Given the description of an element on the screen output the (x, y) to click on. 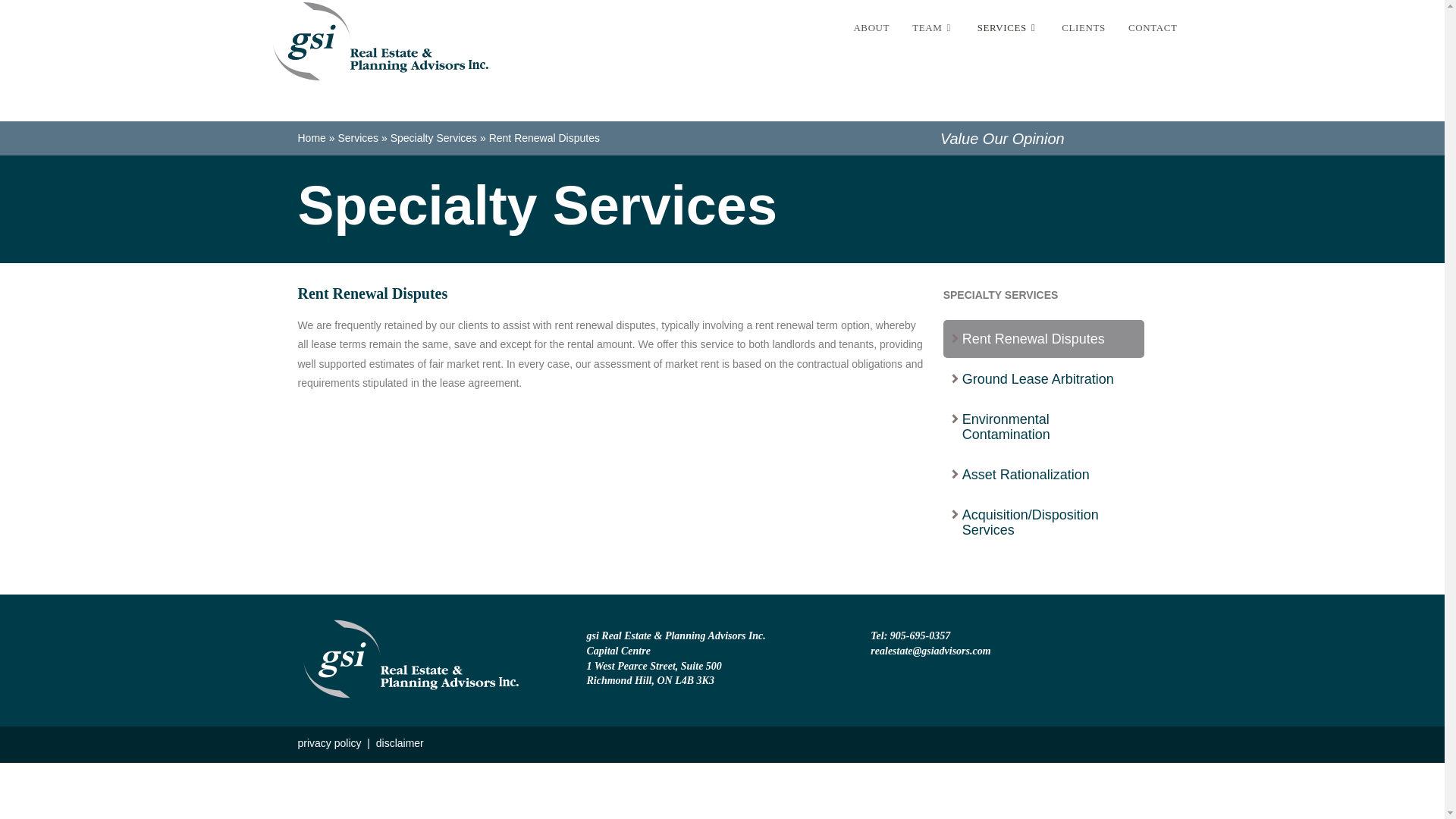
ABOUT (871, 28)
SERVICES (1008, 28)
TEAM (933, 28)
